Given the description of an element on the screen output the (x, y) to click on. 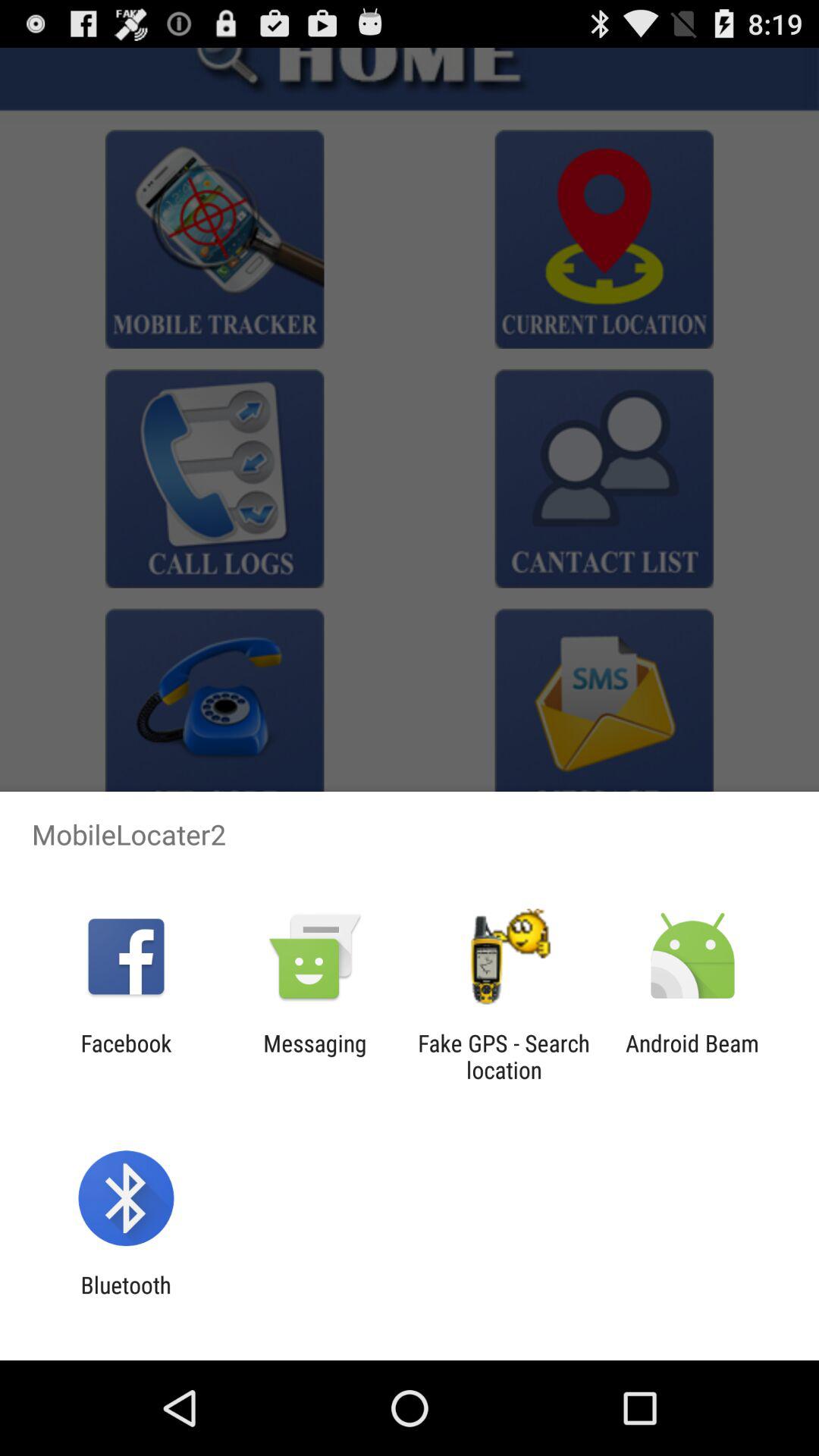
tap the icon next to fake gps search icon (314, 1056)
